Given the description of an element on the screen output the (x, y) to click on. 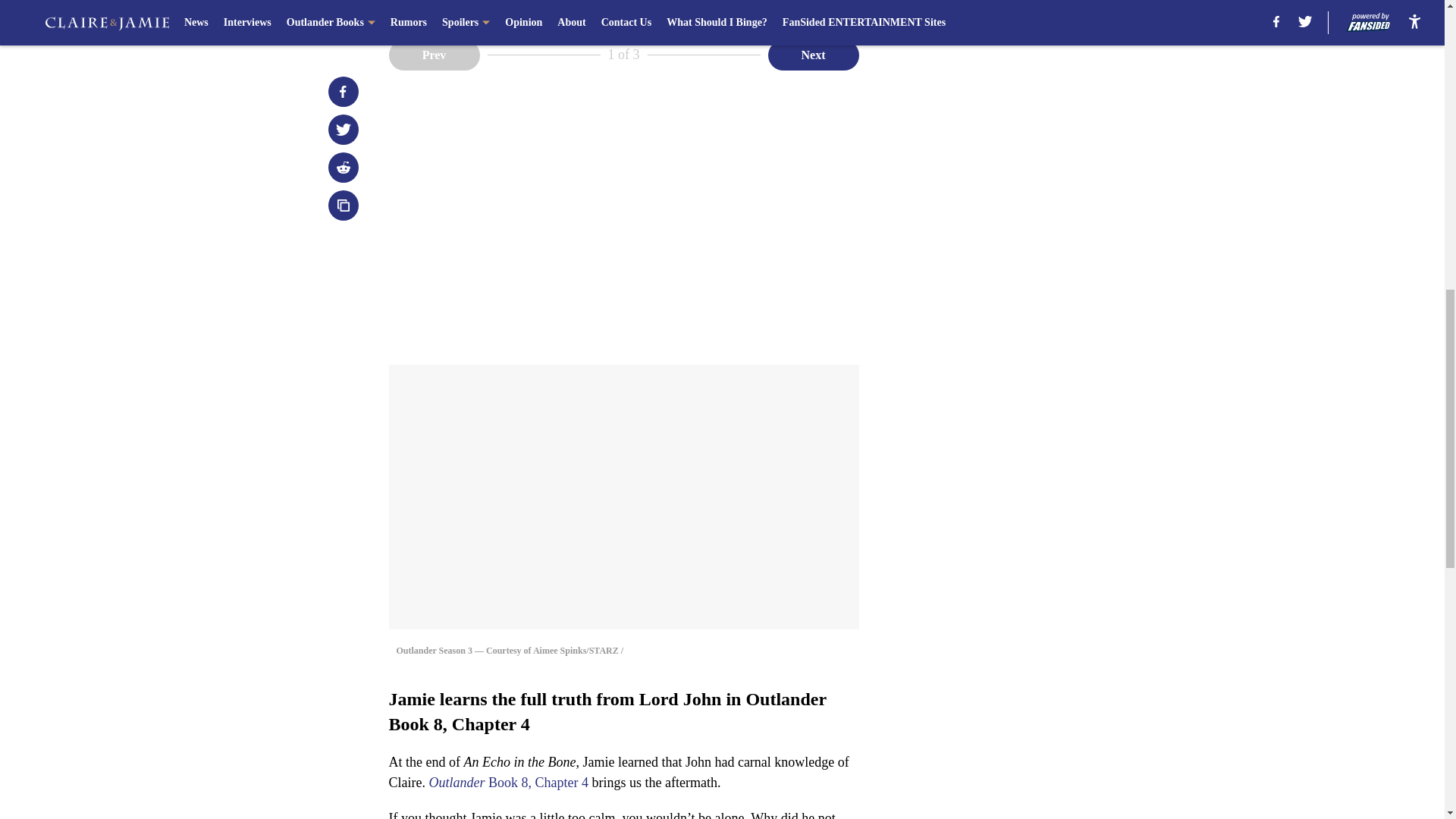
Prev (433, 54)
Outlander Book 8, Chapter 4 (508, 782)
Next (813, 54)
